Given the description of an element on the screen output the (x, y) to click on. 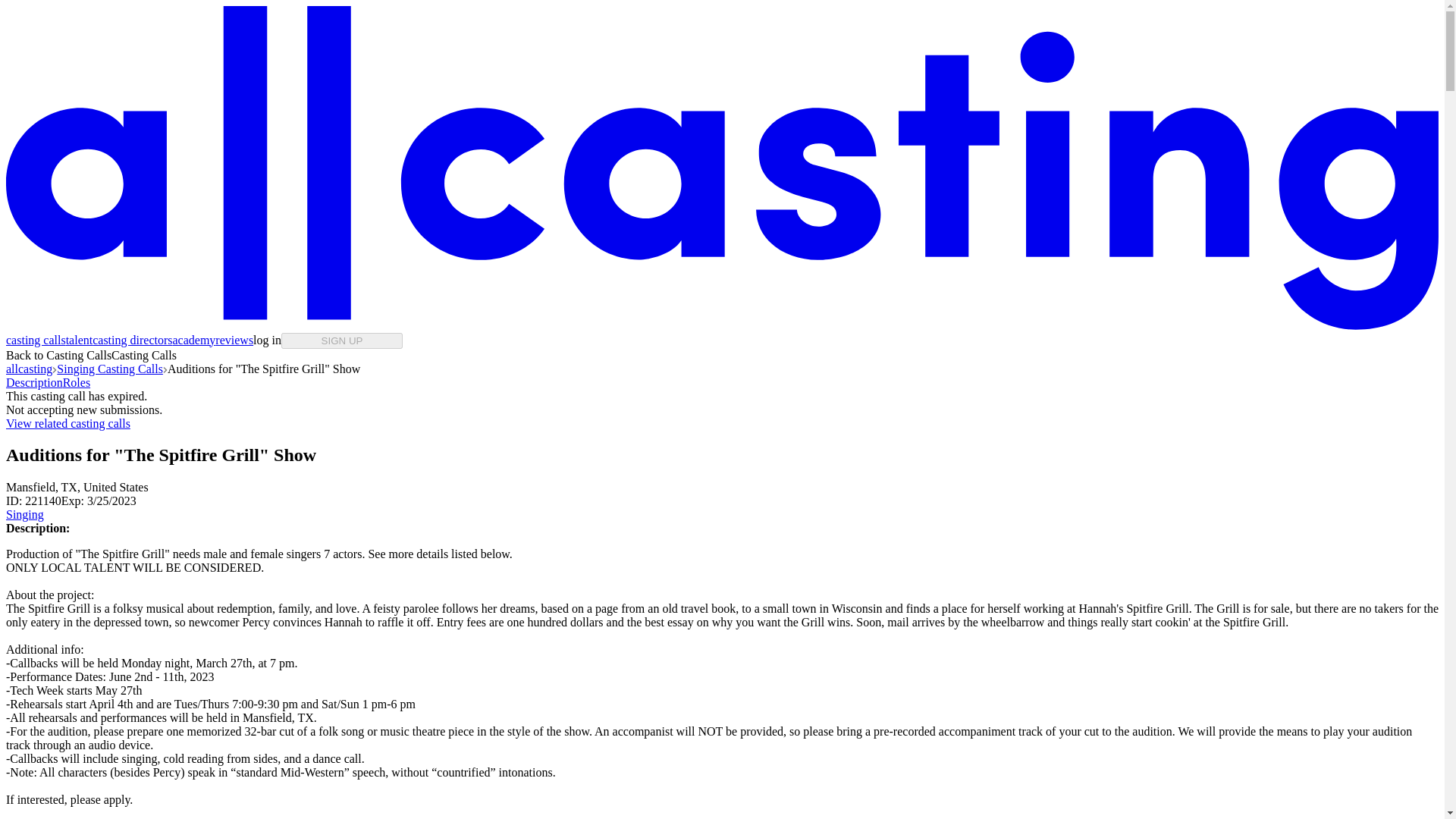
SIGN UP (342, 340)
reviews (234, 339)
casting calls (35, 339)
Roles (76, 382)
allcasting (28, 368)
Back to Casting CallsCasting Calls (90, 354)
Description (33, 382)
academy (193, 339)
talent (79, 339)
Singing (24, 513)
